Given the description of an element on the screen output the (x, y) to click on. 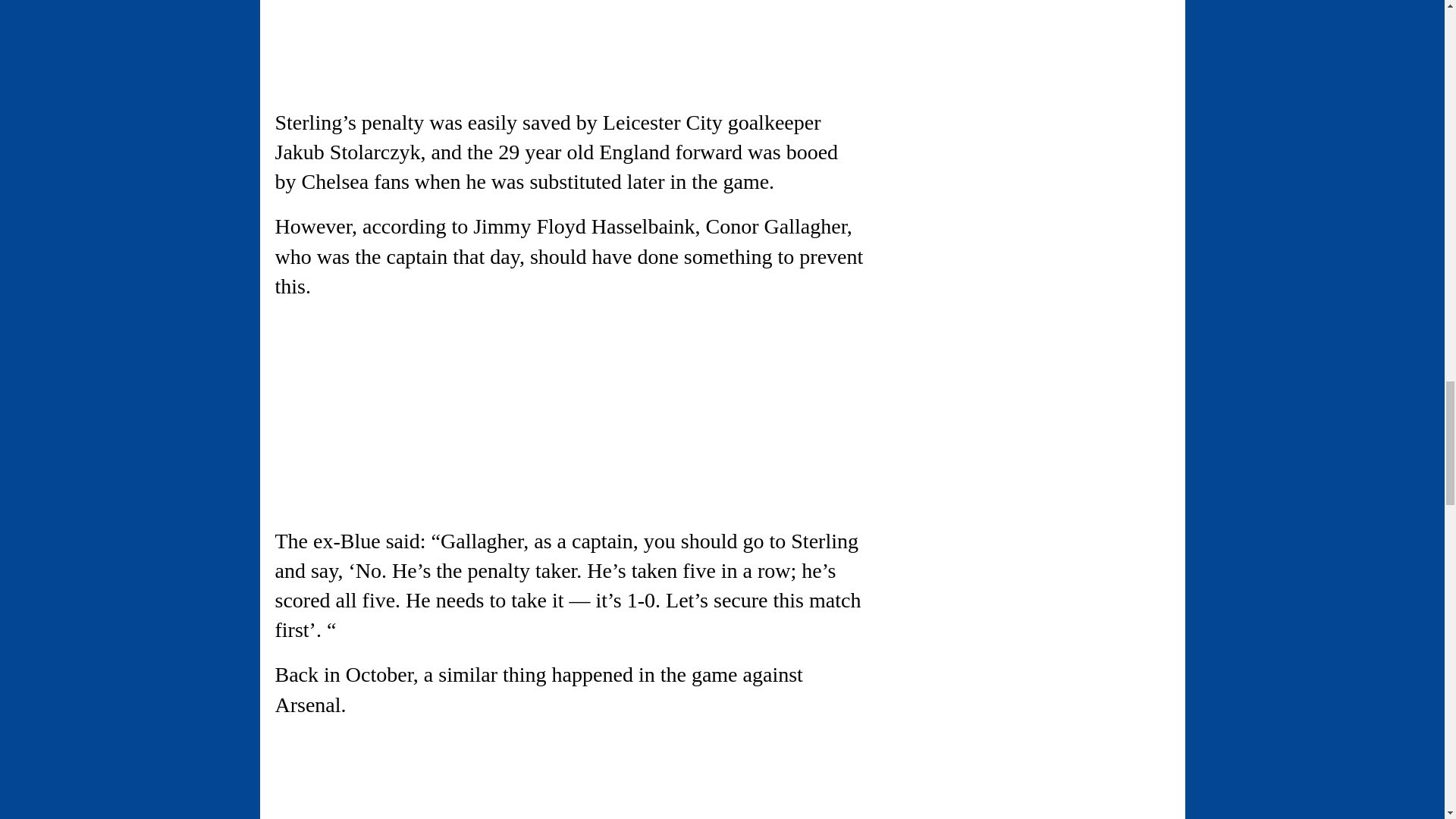
Advertisement (402, 43)
